Given the description of an element on the screen output the (x, y) to click on. 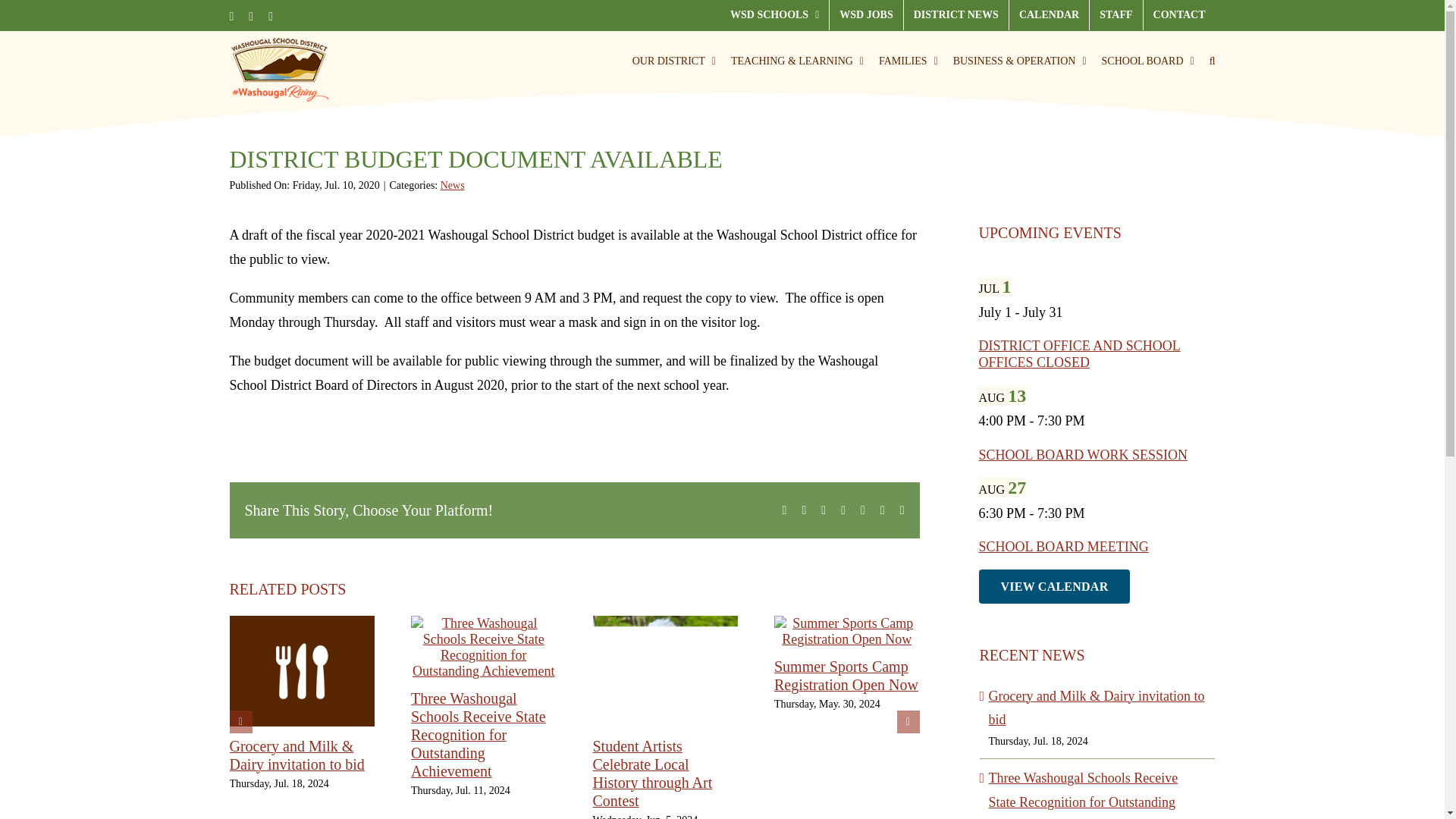
RESOURCES (908, 61)
WhatsApp (862, 510)
Instagram (270, 16)
Reddit (823, 510)
Facebook (230, 16)
LinkedIn (843, 510)
Instagram (270, 16)
OUR DISTRICT (673, 61)
DISTRICT NEWS (956, 15)
X (250, 16)
X (804, 510)
WSD JOBS (865, 15)
Search (1212, 61)
ACADEMIC PROGRAMS (796, 61)
CALENDAR (1049, 15)
